Given the description of an element on the screen output the (x, y) to click on. 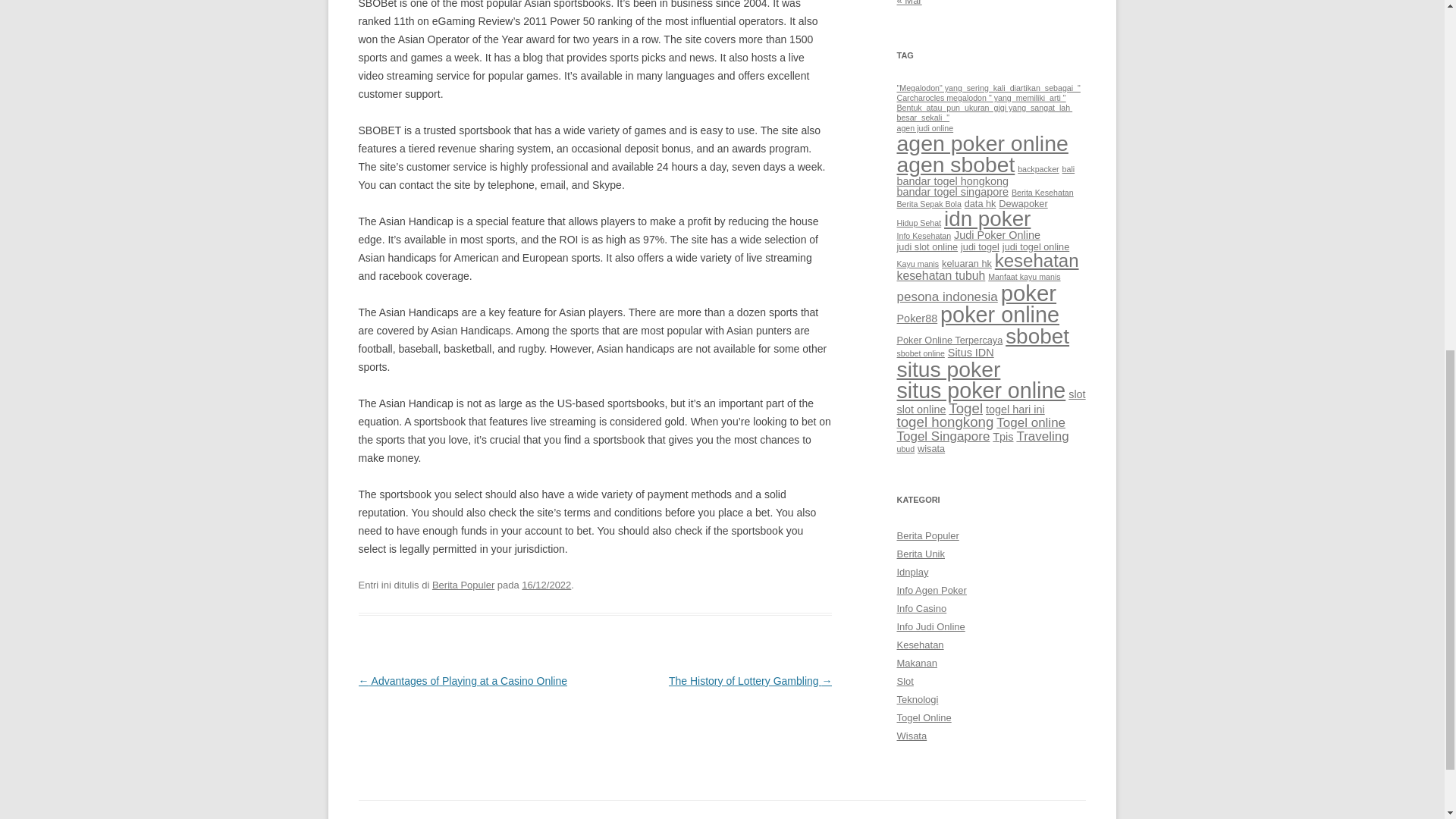
Judi Poker Online (997, 234)
bali (1068, 168)
backpacker (1038, 168)
12:50 pm (545, 584)
agen poker online (981, 143)
bandar togel hongkong (952, 181)
Info Kesehatan (923, 235)
Berita Kesehatan (1042, 192)
idn poker (986, 218)
agen judi online (924, 127)
data hk (979, 203)
Hidup Sehat (918, 222)
agen sbobet (955, 164)
judi slot online (927, 246)
